Given the description of an element on the screen output the (x, y) to click on. 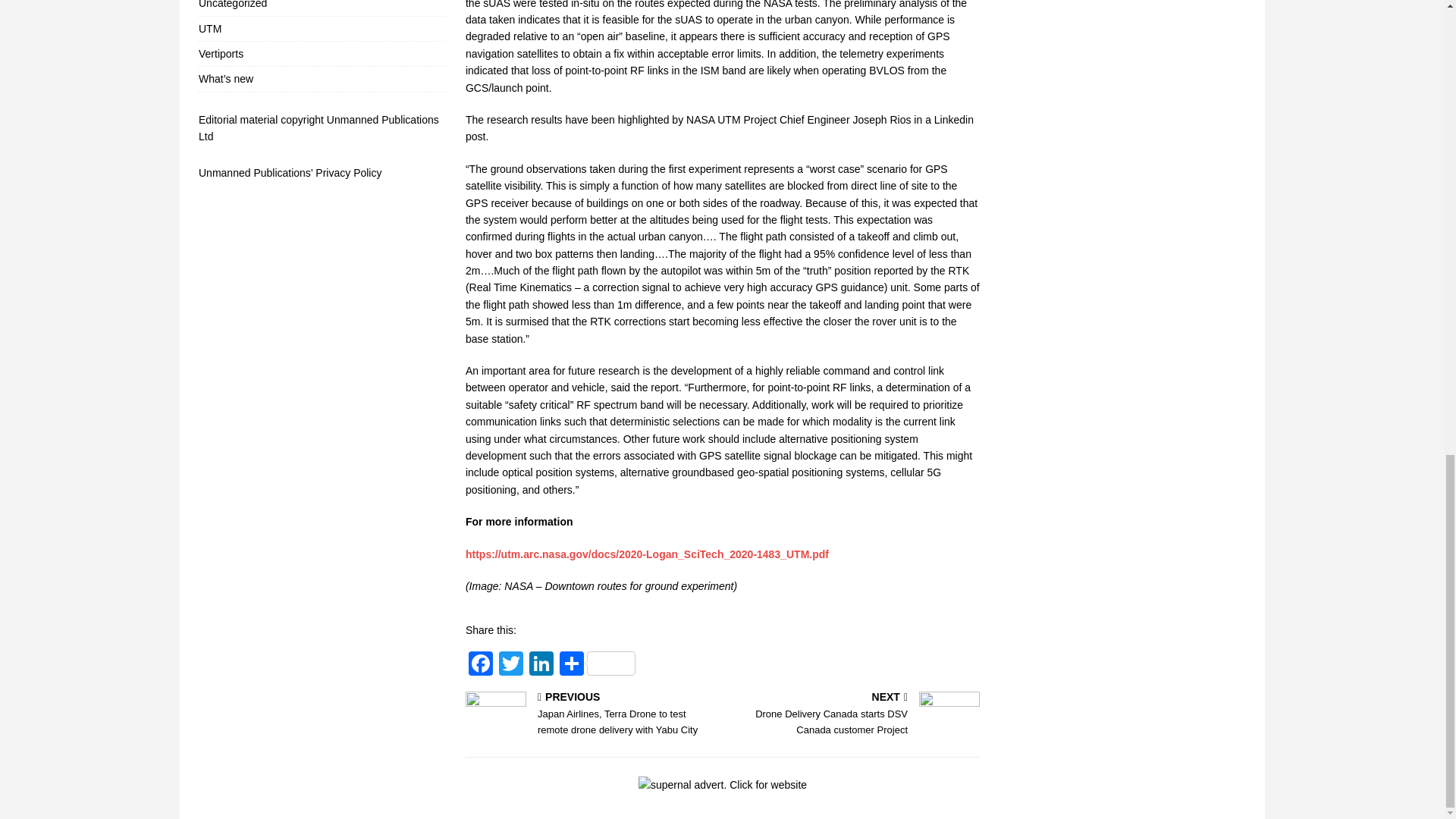
Twitter (510, 665)
LinkedIn (540, 665)
Facebook (480, 665)
Twitter (510, 665)
Facebook (480, 665)
LinkedIn (540, 665)
